Given the description of an element on the screen output the (x, y) to click on. 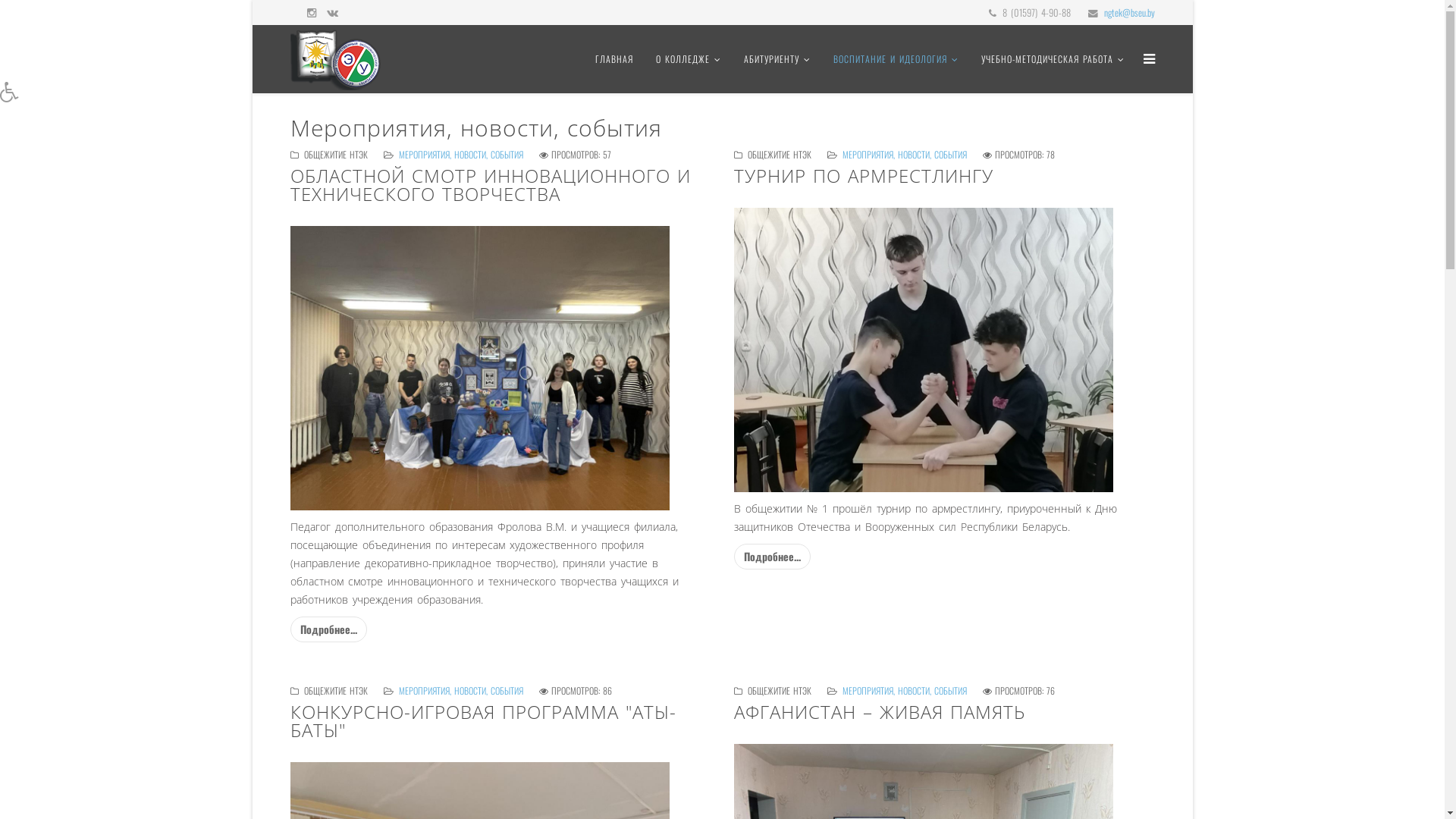
ngtek@bseu.by Element type: text (1129, 12)
